Given the description of an element on the screen output the (x, y) to click on. 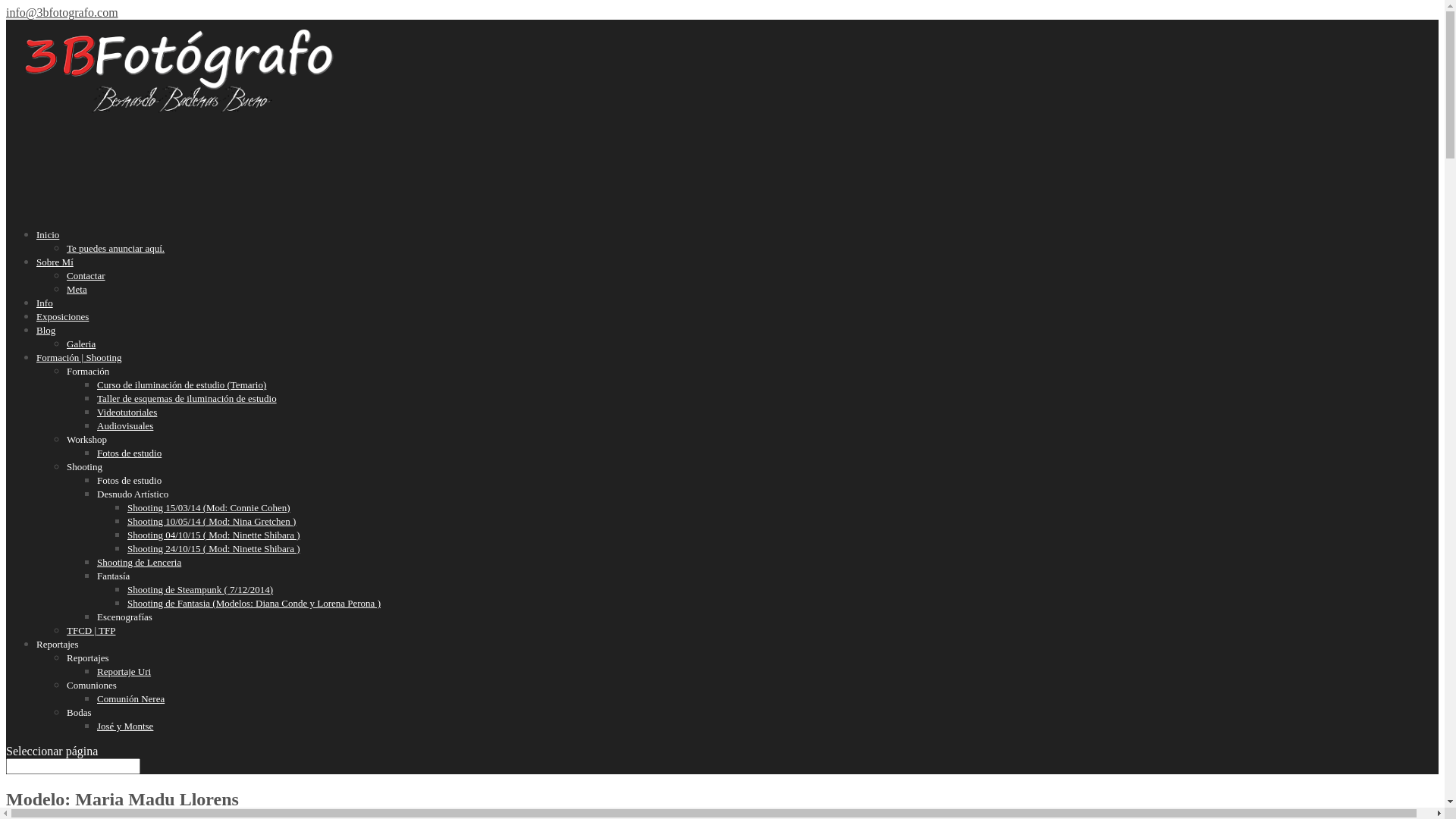
Comuniones Element type: text (91, 684)
Audiovisuales Element type: text (125, 425)
Reportajes Element type: text (57, 661)
Contactar Element type: text (85, 275)
Inicio Element type: text (47, 252)
Shooting de Steampunk ( 7/12/2014) Element type: text (200, 589)
Meta Element type: text (76, 288)
Reportaje Uri Element type: text (123, 671)
Bodas Element type: text (78, 712)
Fotos de estudio Element type: text (129, 452)
Shooting 10/05/14 ( Mod: Nina Gretchen ) Element type: text (211, 521)
Buscar: Element type: hover (73, 766)
Shooting de Lenceria Element type: text (139, 561)
Info Element type: text (44, 320)
info@3bfotografo.com Element type: text (62, 12)
Fotos de estudio Element type: text (129, 480)
Exposiciones Element type: text (62, 333)
Shooting 15/03/14 (Mod: Connie Cohen) Element type: text (208, 507)
Shooting 04/10/15 ( Mod: Ninette Shibara ) Element type: text (213, 534)
Workshop Element type: text (86, 439)
TFCD | TFP Element type: text (91, 630)
Shooting de Fantasia (Modelos: Diana Conde y Lorena Perona ) Element type: text (253, 602)
Blog Element type: text (45, 347)
Videotutoriales Element type: text (126, 411)
Shooting 24/10/15 ( Mod: Ninette Shibara ) Element type: text (213, 548)
Reportajes Element type: text (87, 657)
Galeria Element type: text (80, 343)
Shooting Element type: text (84, 466)
